Given the description of an element on the screen output the (x, y) to click on. 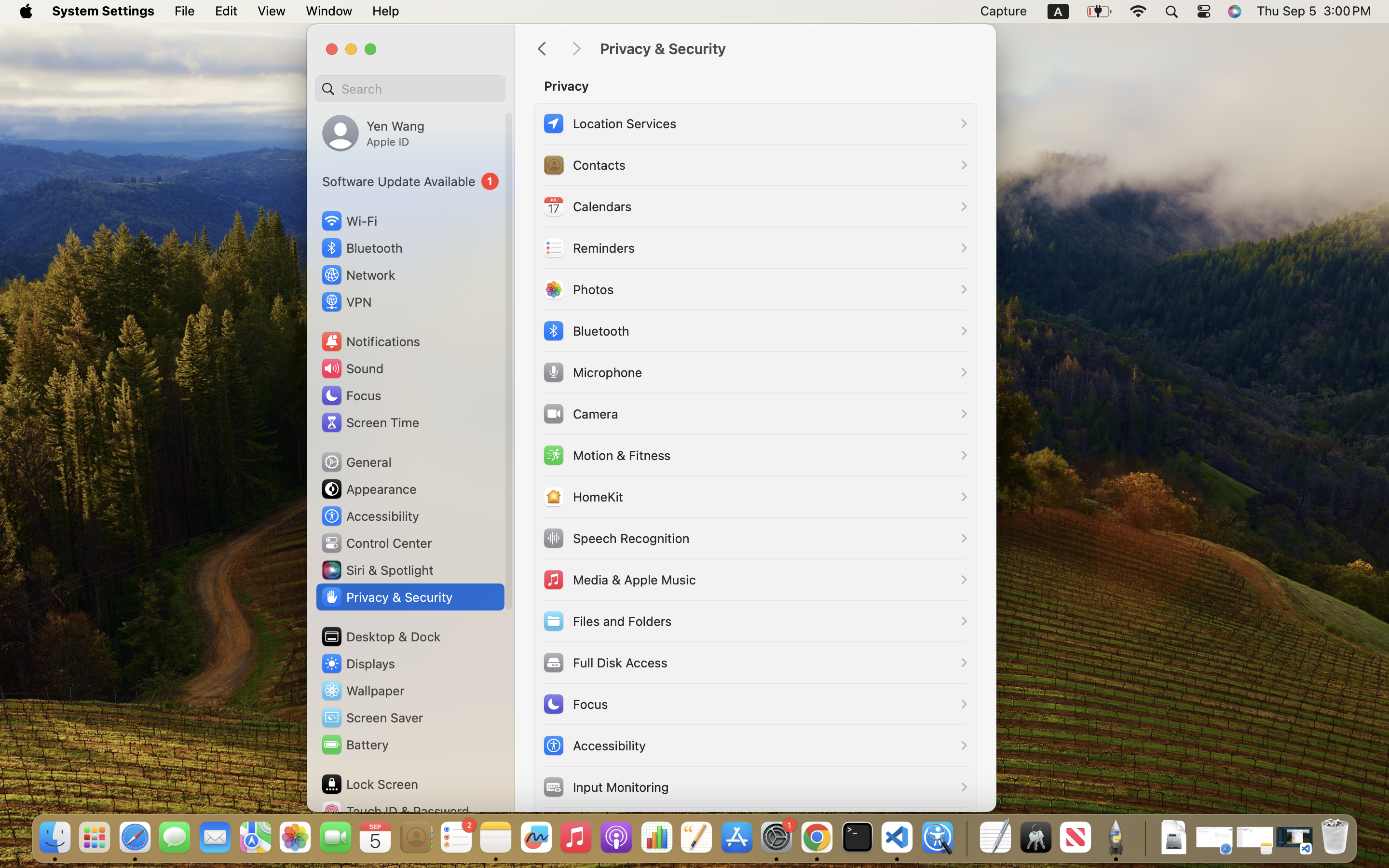
Screen Saver Element type: AXStaticText (371, 717)
Network Element type: AXStaticText (357, 274)
Touch ID & Password Element type: AXStaticText (394, 810)
Control Center Element type: AXStaticText (376, 542)
Notifications Element type: AXStaticText (370, 340)
